Given the description of an element on the screen output the (x, y) to click on. 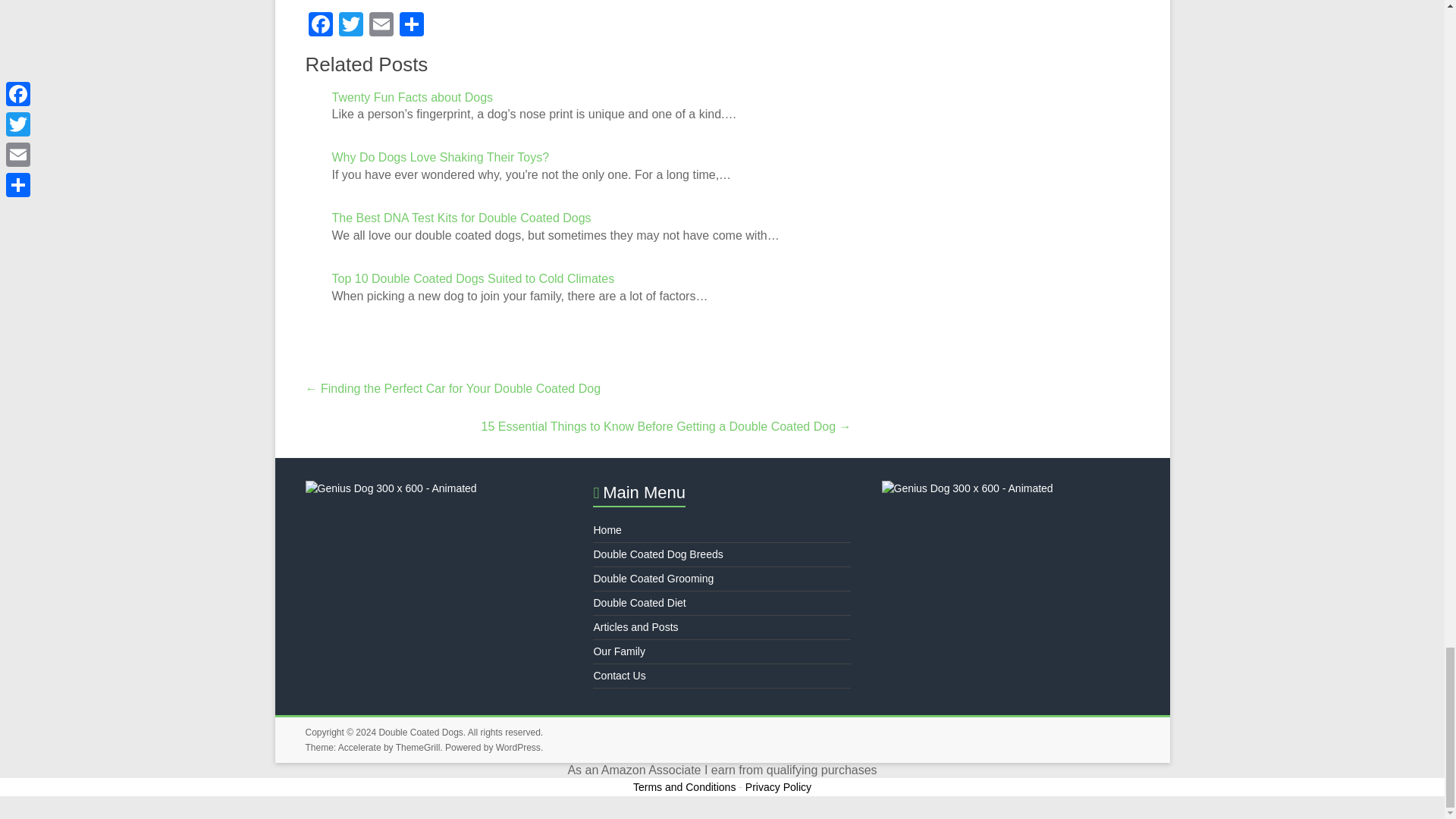
Twitter (349, 26)
The Best DNA Test Kits for Double Coated Dogs (461, 217)
Why Do Dogs Love Shaking Their Toys? (440, 156)
Facebook (319, 26)
Email (380, 26)
Email (380, 26)
Facebook (319, 26)
Accelerate (359, 747)
Twenty Fun Facts about Dogs (412, 97)
Share (411, 26)
WordPress (518, 747)
Double Coated Dogs (420, 732)
Twitter (349, 26)
Top 10 Double Coated Dogs Suited to Cold Climates (472, 278)
